Given the description of an element on the screen output the (x, y) to click on. 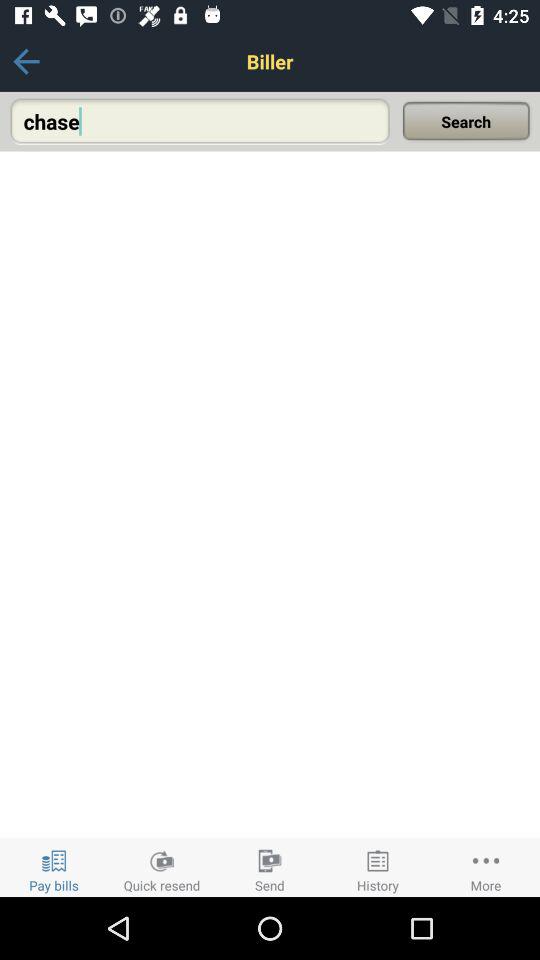
back button (26, 61)
